Given the description of an element on the screen output the (x, y) to click on. 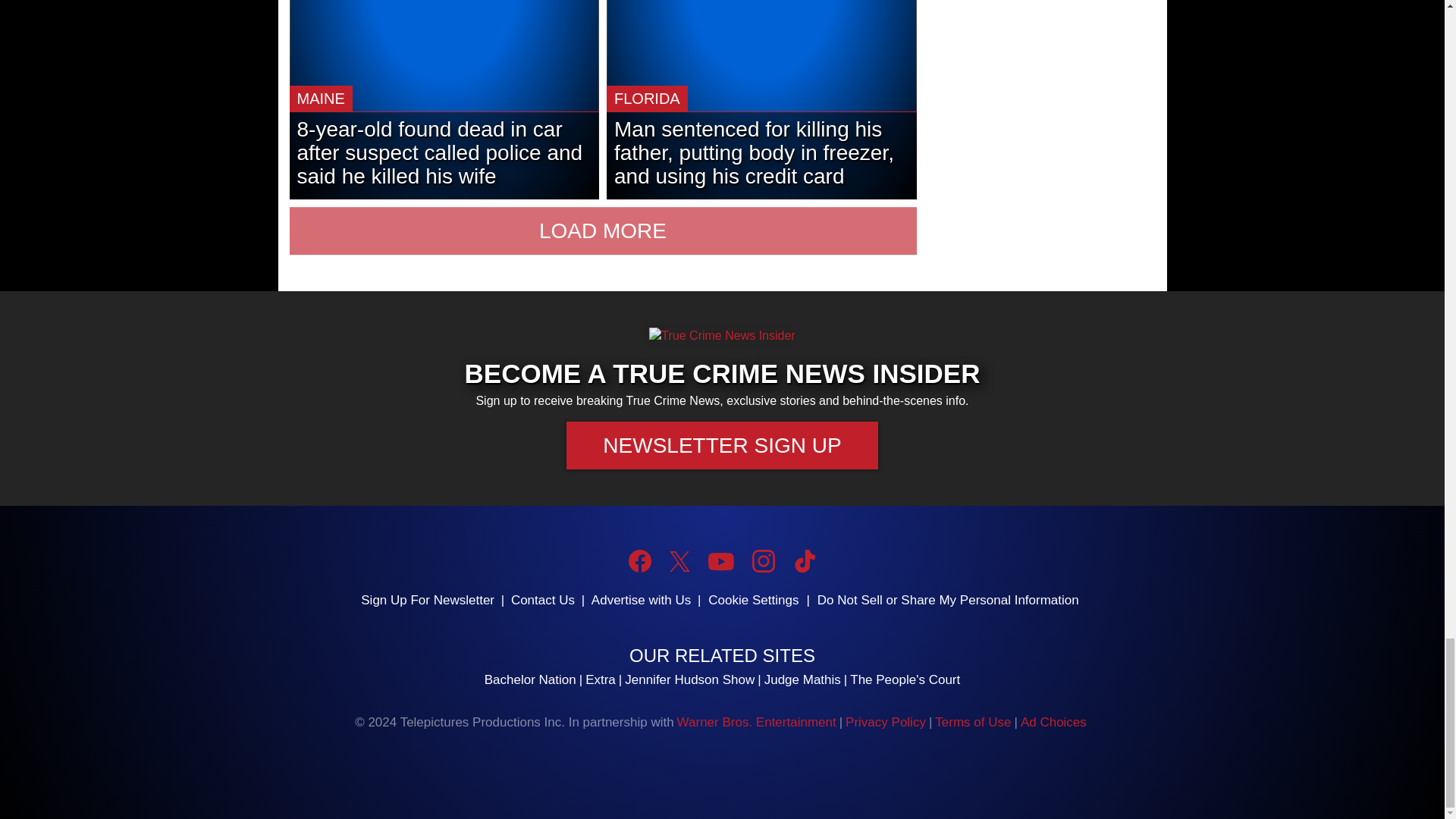
Twitter (679, 561)
Instagram (763, 560)
TikTok (804, 560)
Facebook (639, 560)
YouTube (720, 561)
